Given the description of an element on the screen output the (x, y) to click on. 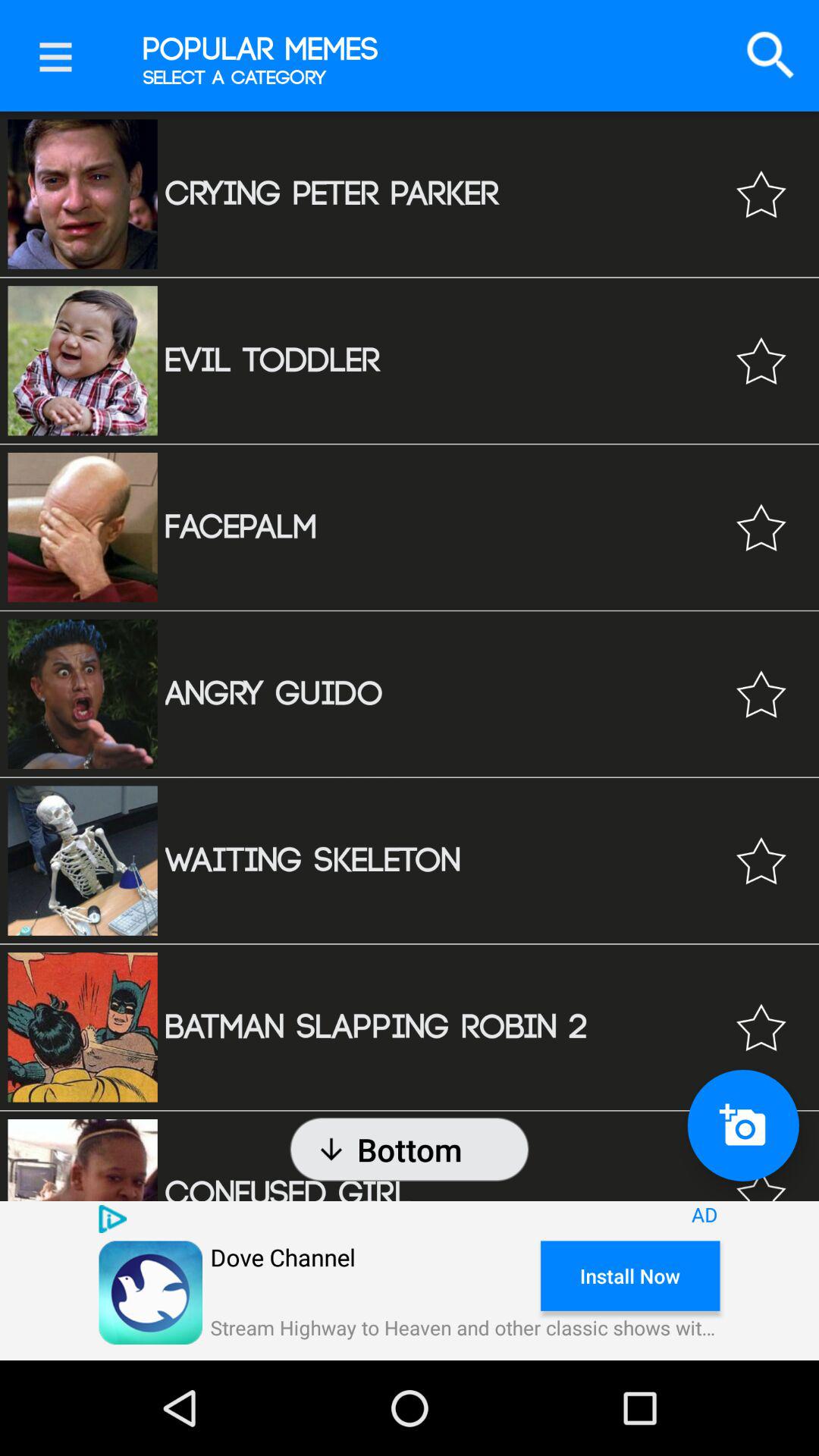
save as favorite (761, 1027)
